Given the description of an element on the screen output the (x, y) to click on. 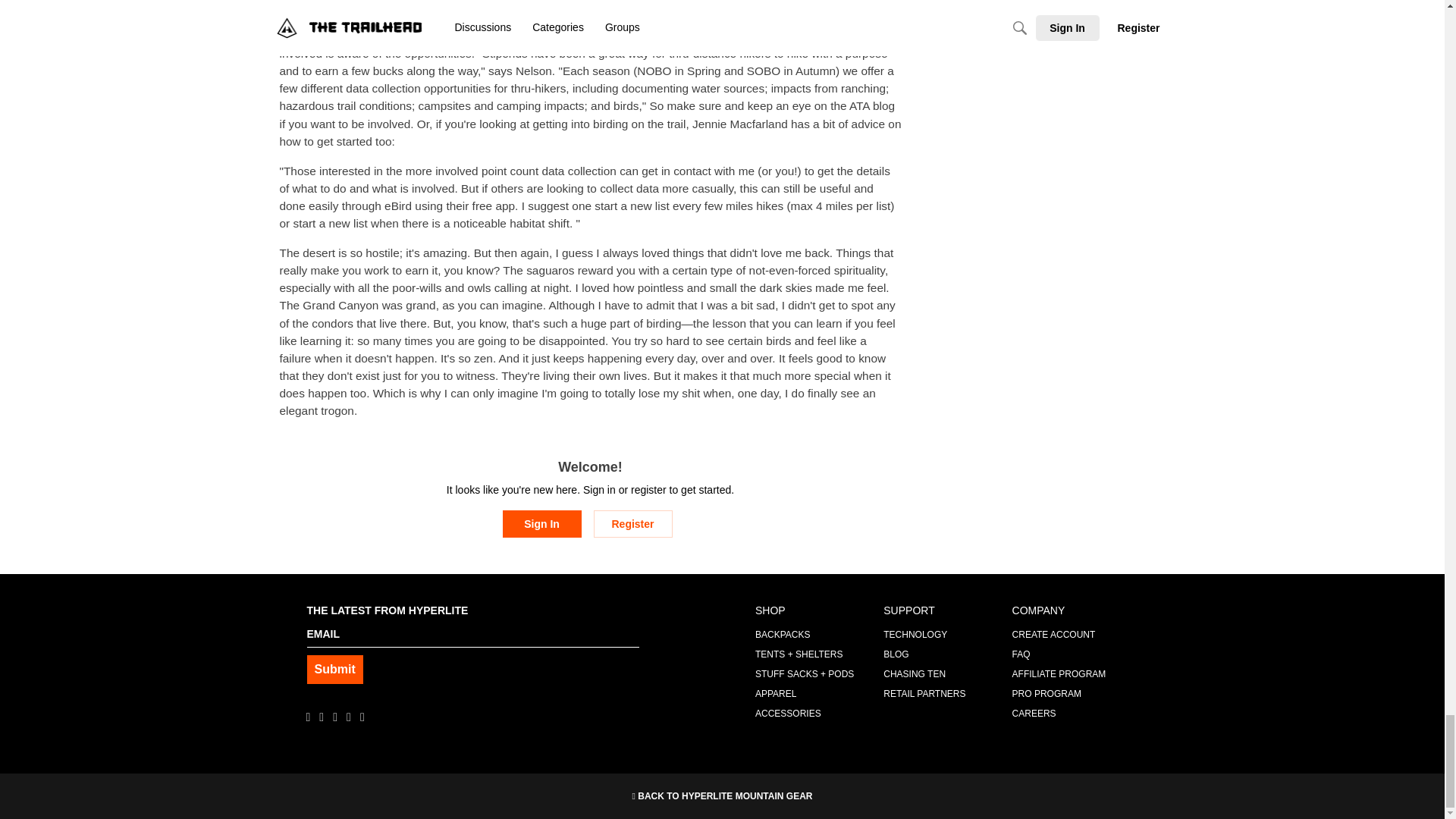
Register (631, 523)
Sign In (541, 523)
Sign In (541, 523)
Register (631, 523)
